Given the description of an element on the screen output the (x, y) to click on. 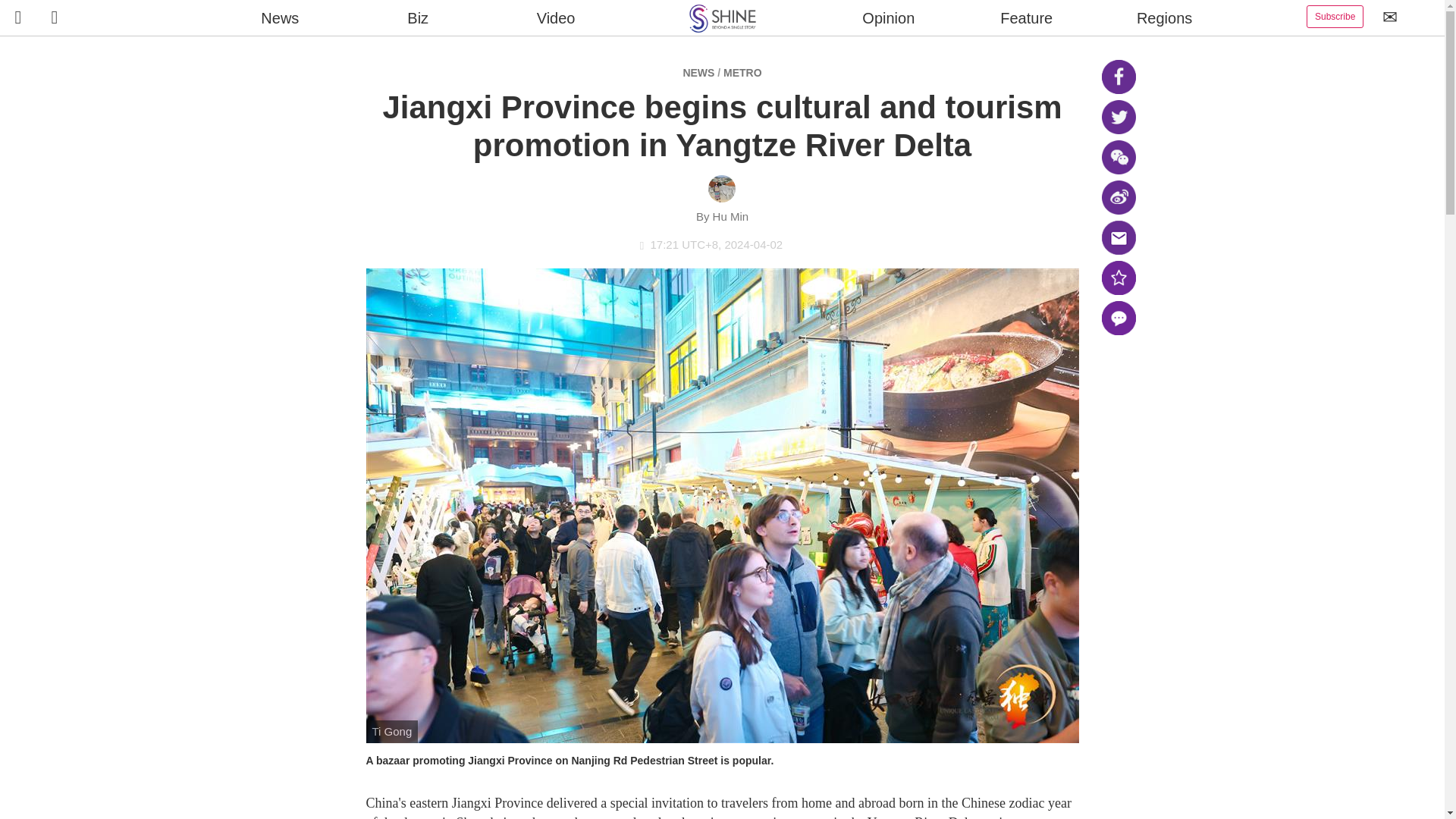
METRO (742, 72)
Share via email (1117, 237)
NEWS (698, 72)
Share your comments (1117, 317)
Add to favorites (1117, 277)
